Given the description of an element on the screen output the (x, y) to click on. 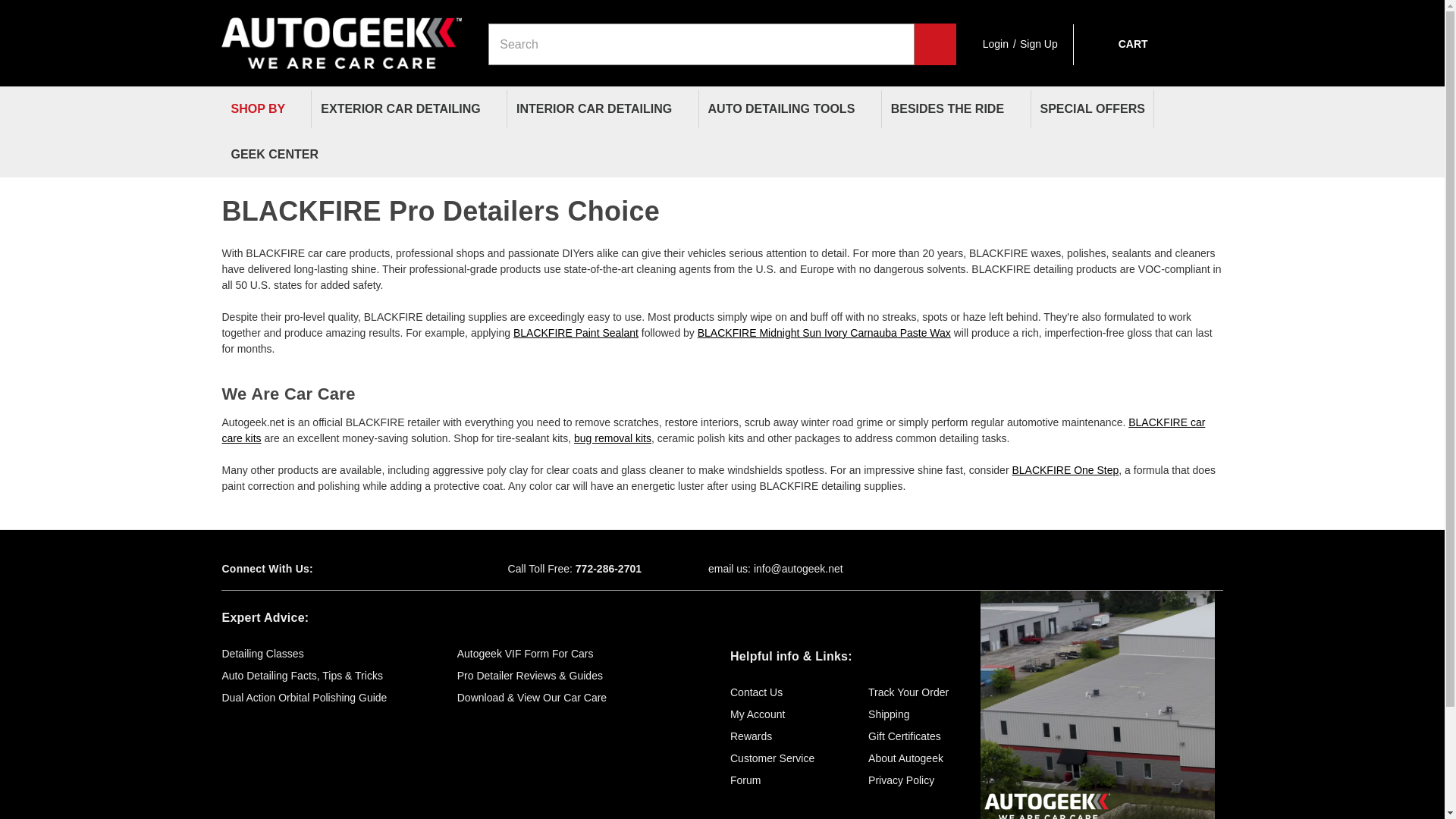
CART (1117, 44)
Autogeek.net (341, 35)
Twitter (379, 569)
Instagram (433, 569)
SHOP BY (266, 108)
Facebook (351, 569)
Sign Up (1039, 44)
Youtube (405, 569)
Login (995, 44)
